Given the description of an element on the screen output the (x, y) to click on. 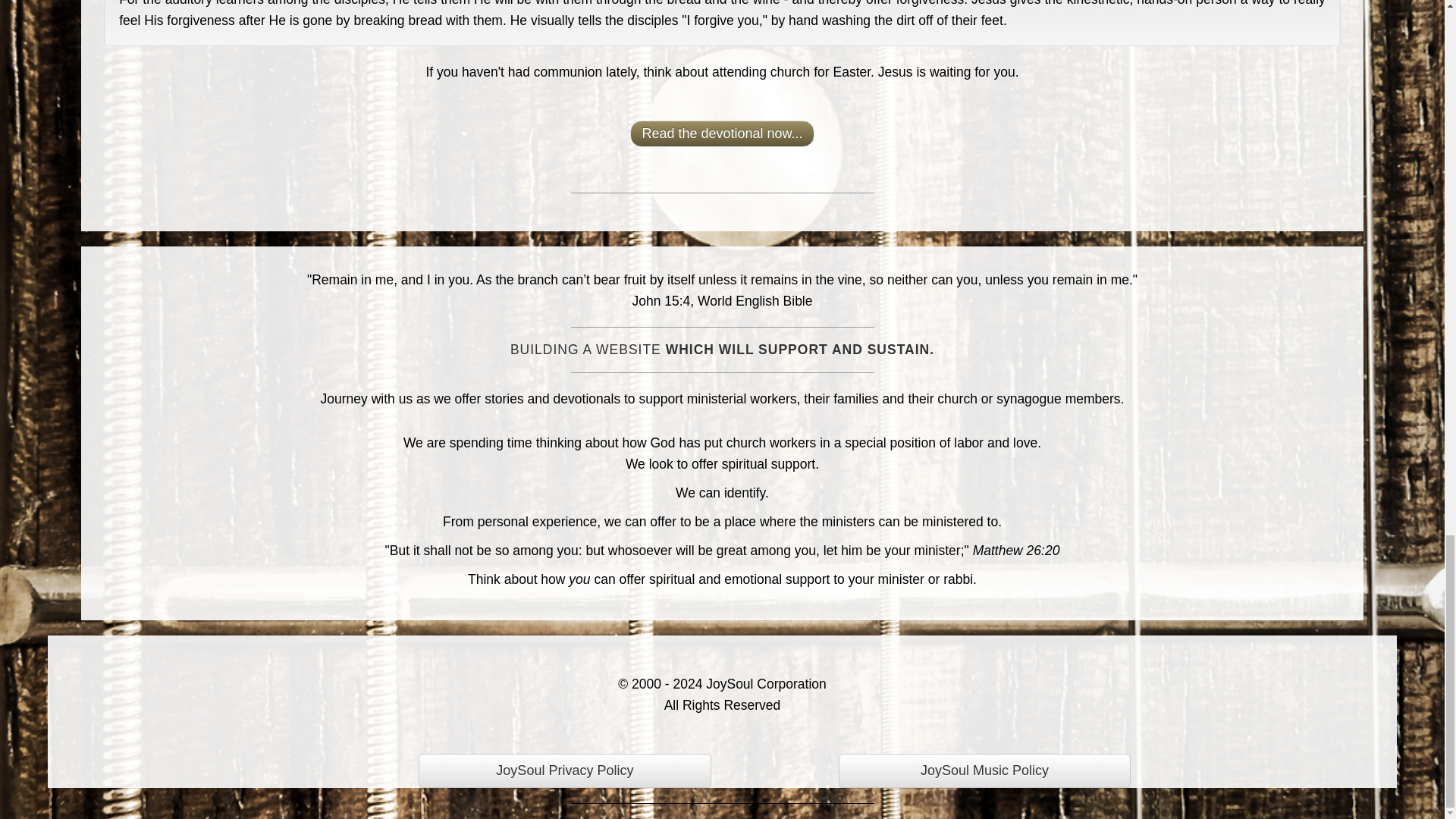
Go to the devotional, At My Feet (721, 133)
